Given the description of an element on the screen output the (x, y) to click on. 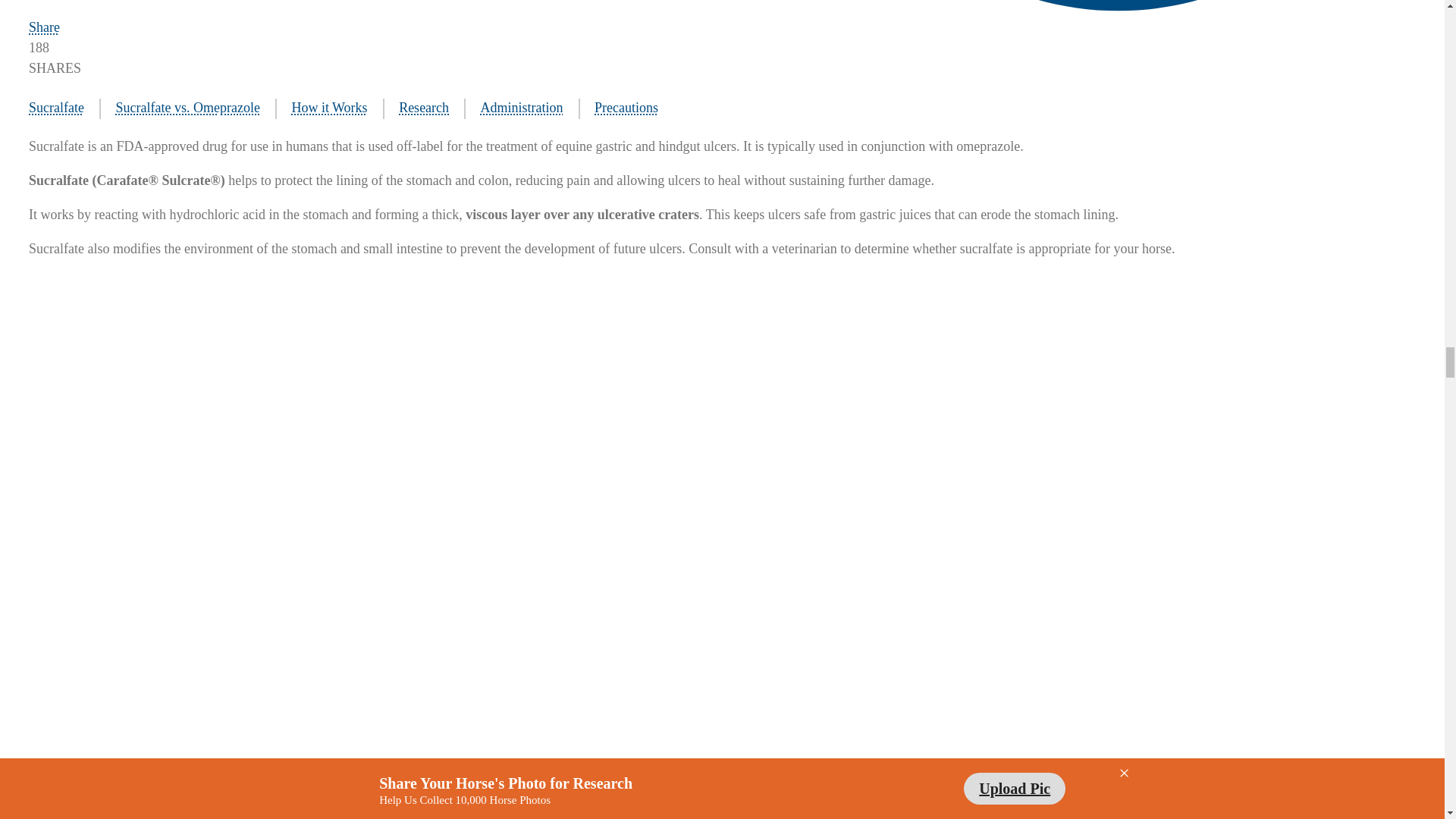
Sucralfate Research in Horses (431, 108)
Sucralfate to Treat Ulcers (64, 108)
Side Effects and Precautions (633, 108)
Dosage and Administration Guidelines (529, 108)
Sucralfate vs. Omeprazole (195, 108)
How Sucralfate Works (337, 108)
